Given the description of an element on the screen output the (x, y) to click on. 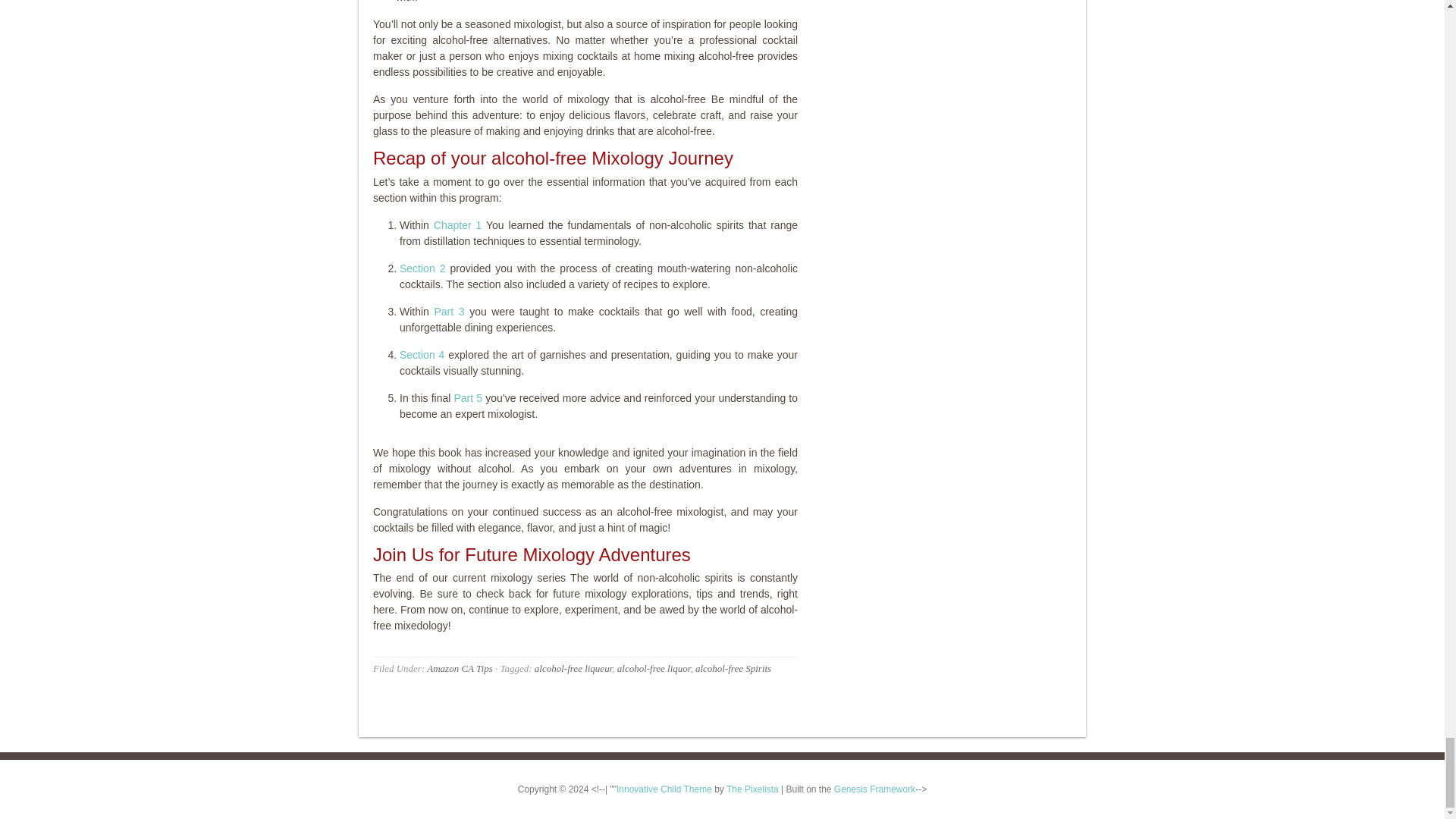
alcohol-free Spirits (733, 668)
Part 5 (466, 397)
Section 4 (421, 354)
alcohol-free liquor (653, 668)
Chapter 1 (457, 224)
Section 2 (421, 268)
Amazon CA Tips (459, 668)
alcohol-free liqueur (572, 668)
Part 3 (448, 310)
